Given the description of an element on the screen output the (x, y) to click on. 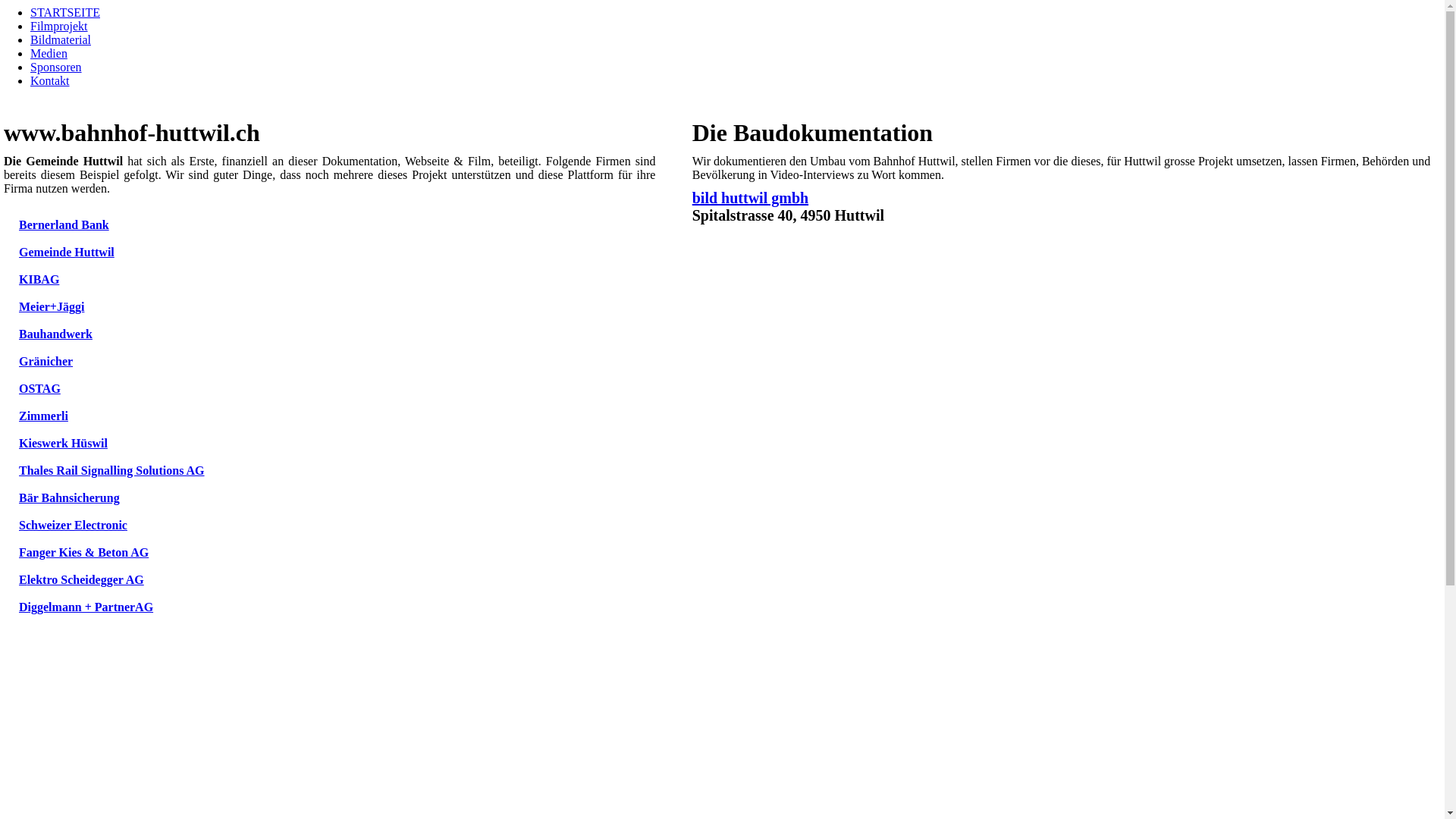
Filmprojekt Element type: text (58, 25)
Gemeinde Huttwil Element type: text (66, 251)
Diggelmann + PartnerAG Element type: text (85, 606)
Kontakt Element type: text (49, 80)
Schweizer Electronic Element type: text (72, 524)
Sponsoren Element type: text (55, 66)
STARTSEITE Element type: text (65, 12)
Thales Rail Signalling Solutions AG Element type: text (111, 470)
Bernerland Bank Element type: text (63, 224)
Elektro Scheidegger AG Element type: text (81, 579)
bild huttwil gmbh Element type: text (750, 197)
Bauhandwerk Element type: text (55, 333)
Zimmerli Element type: text (43, 415)
Fanger Kies & Beton AG Element type: text (83, 552)
Medien Element type: text (48, 53)
Bildmaterial Element type: text (60, 39)
KIBAG Element type: text (38, 279)
OSTAG Element type: text (39, 388)
